Given the description of an element on the screen output the (x, y) to click on. 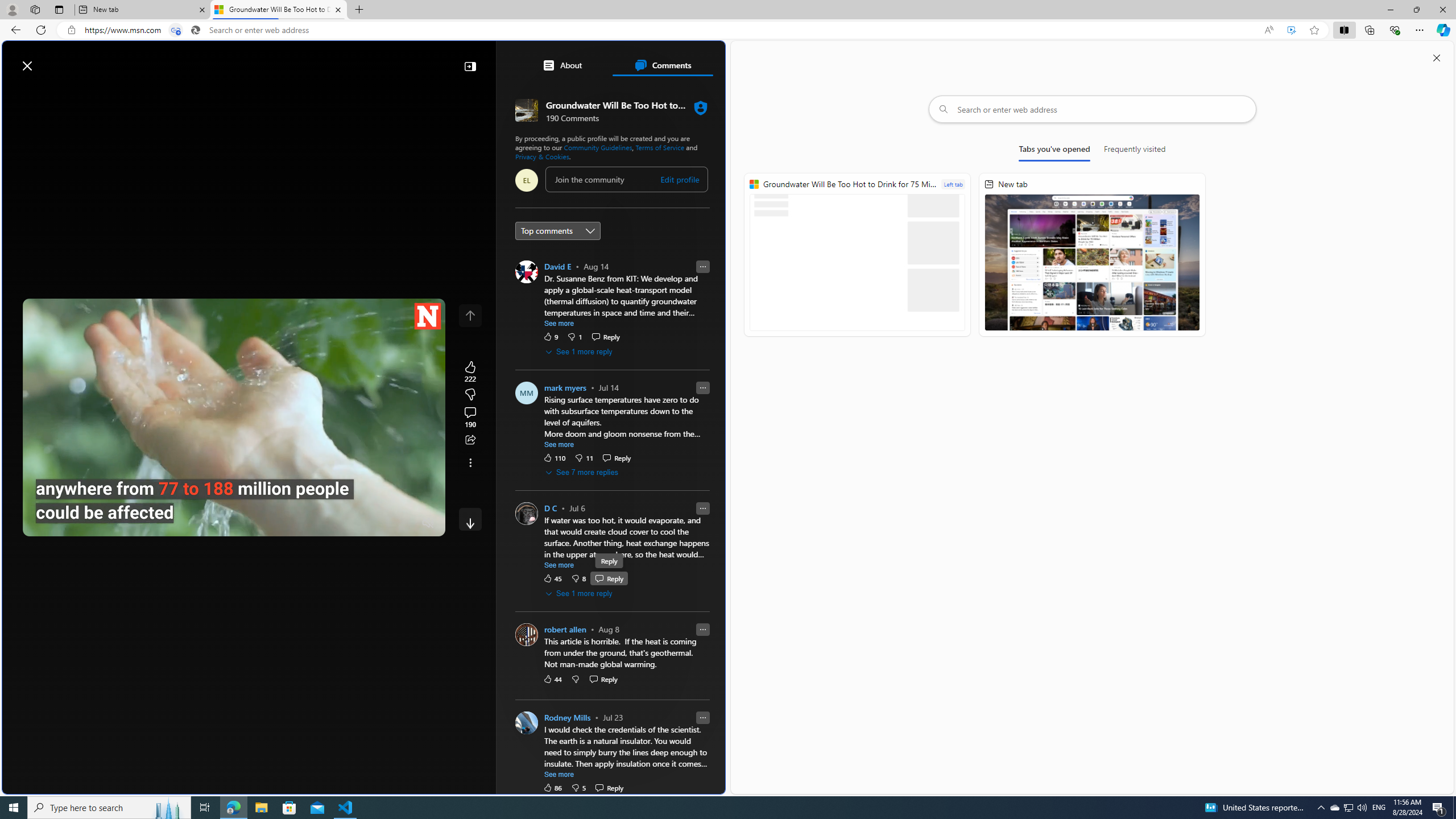
Personalize (679, 92)
Class: control icon-only (469, 315)
Edit profile (679, 179)
Terms of Service (659, 146)
D C (550, 508)
More like this222Fewer like thisView comments (469, 394)
Web search (161, 60)
Watch (145, 92)
Collapse (469, 65)
Microsoft rewards (654, 60)
